Given the description of an element on the screen output the (x, y) to click on. 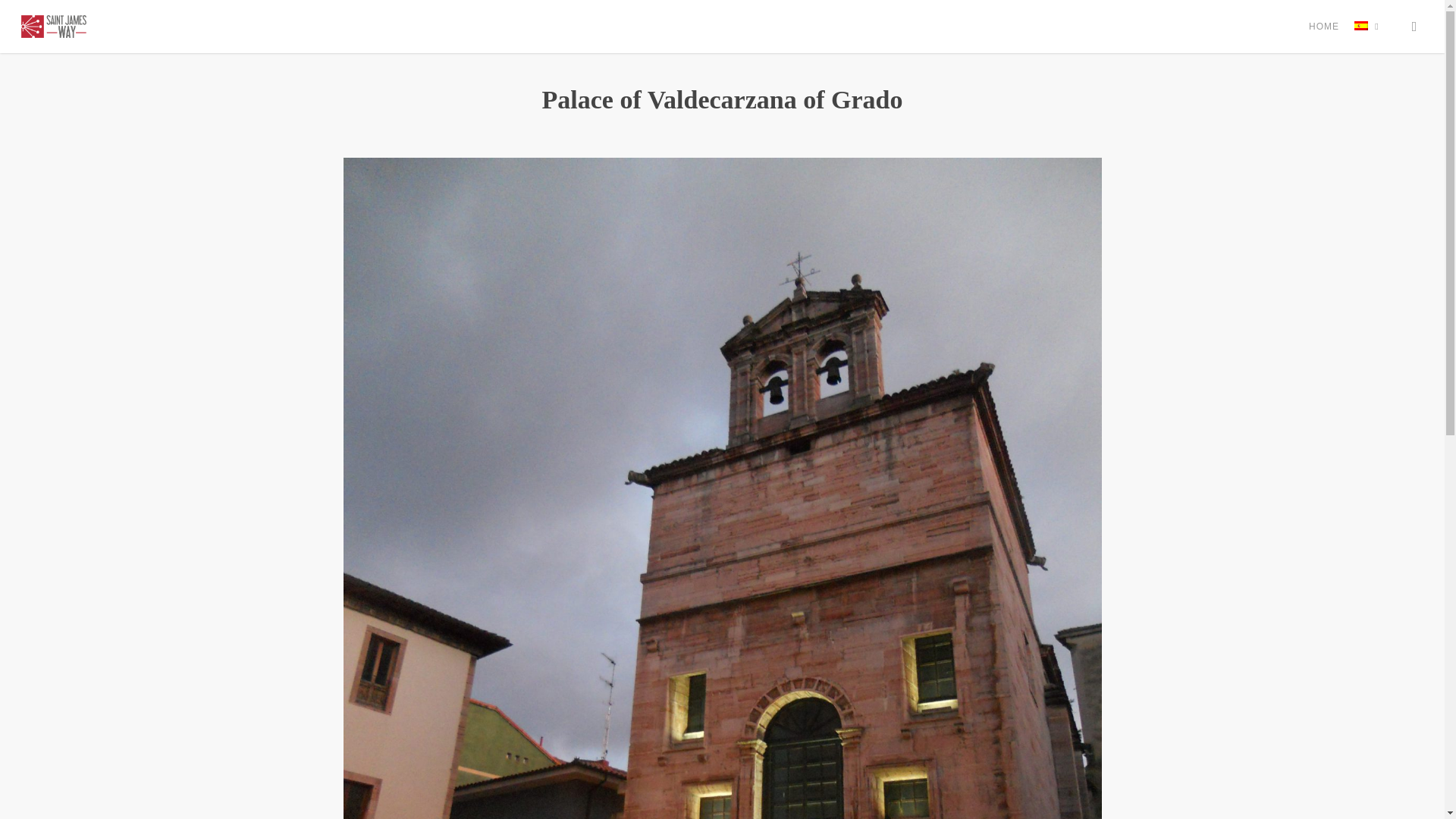
search (1414, 26)
HOME (1323, 26)
